Given the description of an element on the screen output the (x, y) to click on. 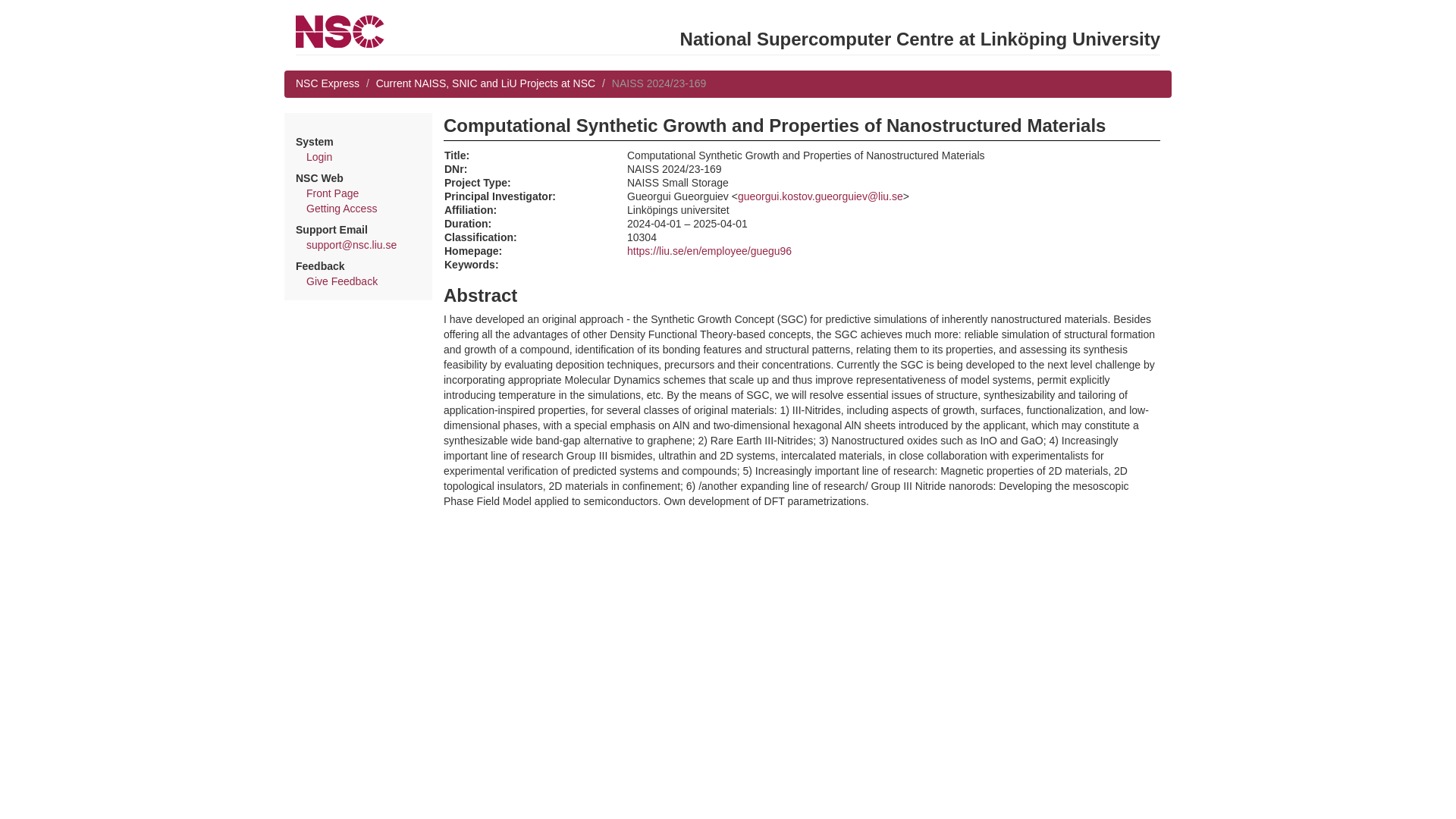
Getting Access (341, 208)
Give Feedback (341, 281)
Current NAISS, SNIC and LiU Projects at NSC (485, 82)
Front Page (331, 193)
NSC Express (327, 82)
Login (318, 156)
